Given the description of an element on the screen output the (x, y) to click on. 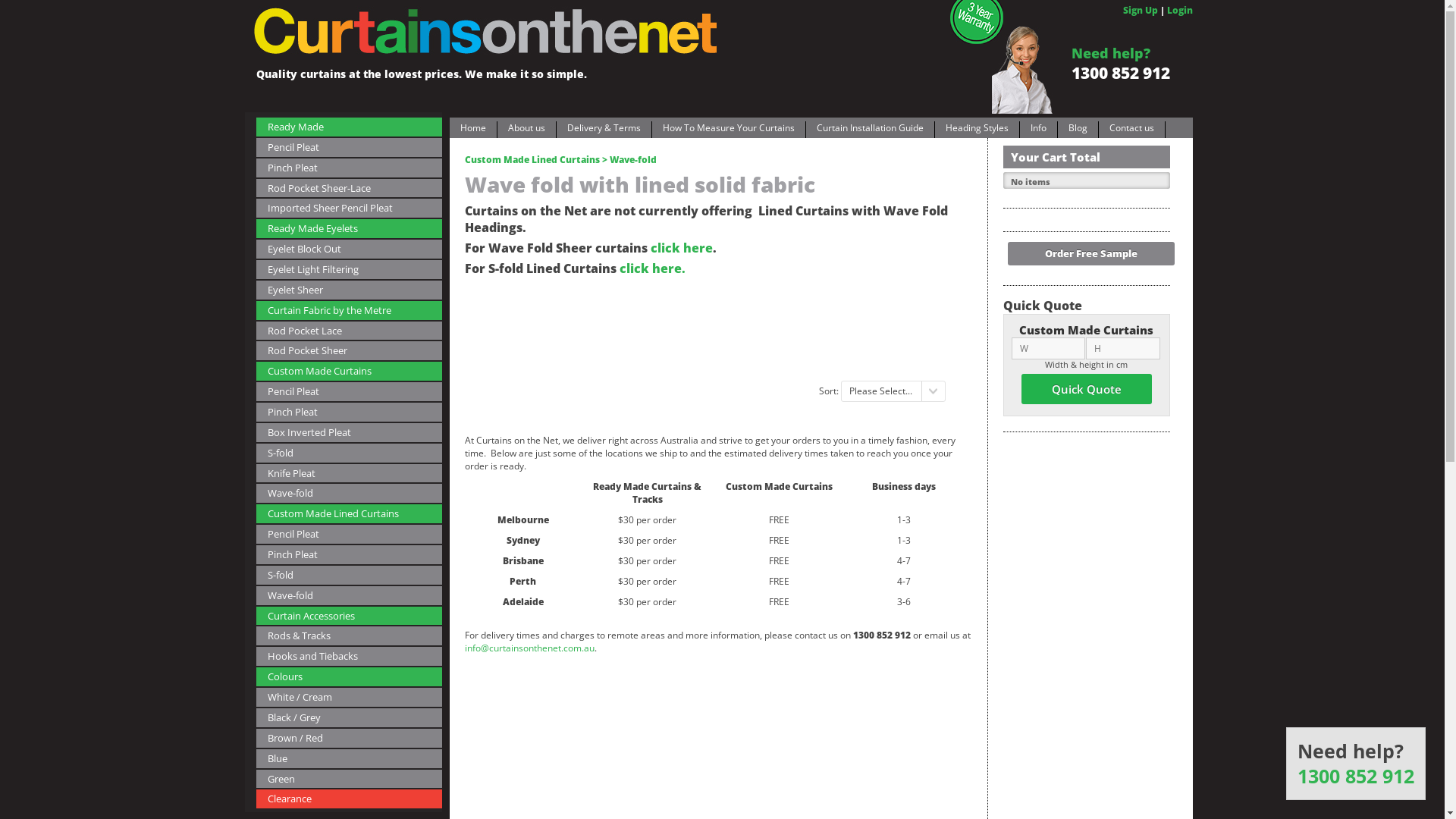
How To Measure Your Curtains Element type: text (728, 129)
Custom Made Lined Curtains Element type: text (349, 513)
Blue Element type: text (349, 758)
Eyelet Sheer Element type: text (349, 289)
Rods & Tracks Element type: text (349, 635)
Heading Styles Element type: text (976, 129)
Rod Pocket Sheer Element type: text (349, 350)
1300 852 912 Element type: text (1355, 775)
Pencil Pleat Element type: text (349, 533)
Home Element type: text (471, 129)
Rod Pocket Sheer-Lace Element type: text (349, 187)
Wave-fold Element type: text (349, 595)
Curtain Accessories Element type: text (349, 615)
Pinch Pleat Element type: text (349, 411)
Eyelet Light Filtering Element type: text (349, 269)
Blog Element type: text (1077, 129)
Pencil Pleat Element type: text (349, 147)
Wave-fold Element type: text (349, 492)
1300 852 912 Element type: text (1119, 72)
Sign Up Element type: text (1139, 9)
Curtain Installation Guide Element type: text (869, 129)
Login Element type: text (1179, 9)
S-fold Element type: text (349, 574)
Ready Made Element type: text (349, 126)
Clearance Element type: text (349, 798)
Contact us Element type: text (1131, 129)
Custom Made Curtains Element type: text (349, 370)
Curtain Fabric by the Metre Element type: text (349, 310)
click here Element type: text (681, 247)
info@curtainsonthenet.com.au Element type: text (528, 647)
Brown / Red Element type: text (349, 737)
Knife Pleat Element type: text (349, 473)
Box Inverted Pleat Element type: text (349, 432)
Hooks and Tiebacks Element type: text (349, 655)
Info Element type: text (1037, 129)
Eyelet Block Out Element type: text (349, 248)
Colours Element type: text (349, 676)
Pinch Pleat Element type: text (349, 554)
Quick Quote Element type: text (1085, 388)
White / Cream Element type: text (349, 696)
Rod Pocket Lace Element type: text (349, 330)
Pinch Pleat Element type: text (349, 167)
Imported Sheer Pencil Pleat Element type: text (349, 207)
S-fold Element type: text (349, 452)
About us Element type: text (526, 129)
Black / Grey Element type: text (349, 717)
click here. Element type: text (651, 268)
Pencil Pleat Element type: text (349, 391)
Green Element type: text (349, 777)
Delivery & Terms Element type: text (603, 129)
Ready Made Eyelets Element type: text (349, 228)
Order Free Sample Element type: text (1090, 253)
